Given the description of an element on the screen output the (x, y) to click on. 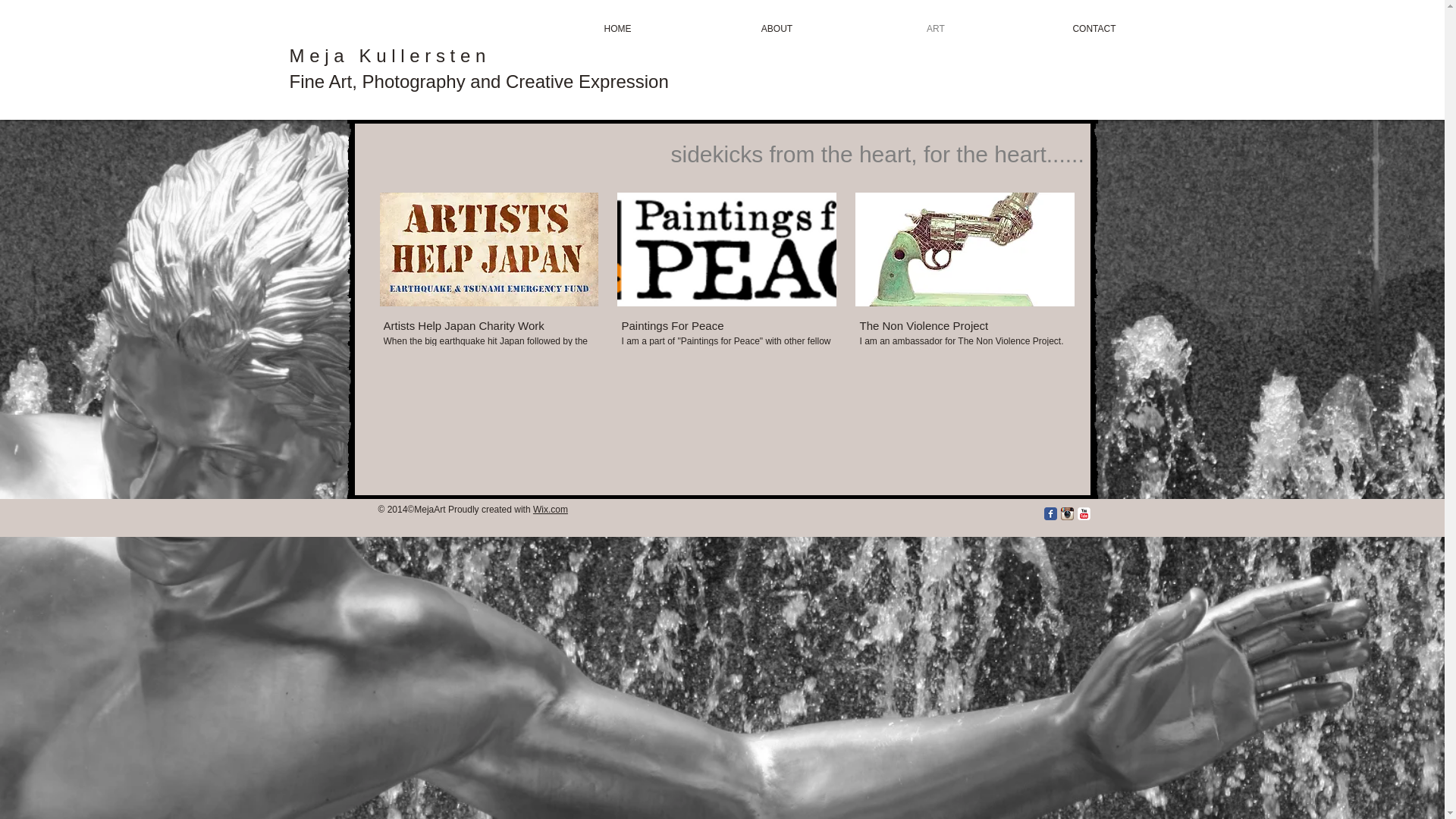
Wix.com (549, 509)
CONTACT (1093, 28)
Facebook Like (943, 521)
ABOUT (777, 28)
ART (935, 28)
HOME (617, 28)
